Given the description of an element on the screen output the (x, y) to click on. 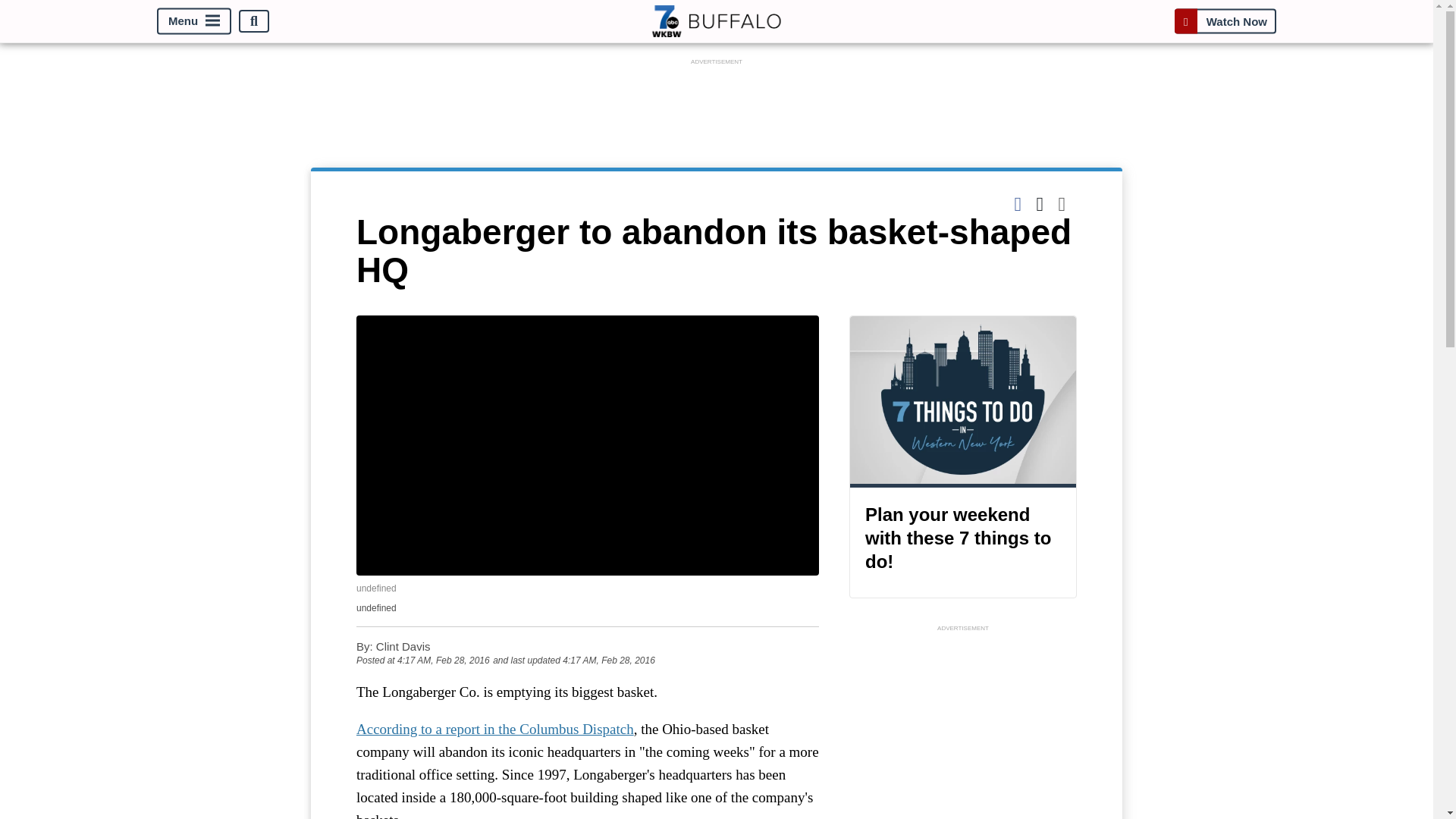
Watch Now (1224, 21)
3rd party ad content (716, 102)
3rd party ad content (962, 727)
Menu (194, 21)
